Given the description of an element on the screen output the (x, y) to click on. 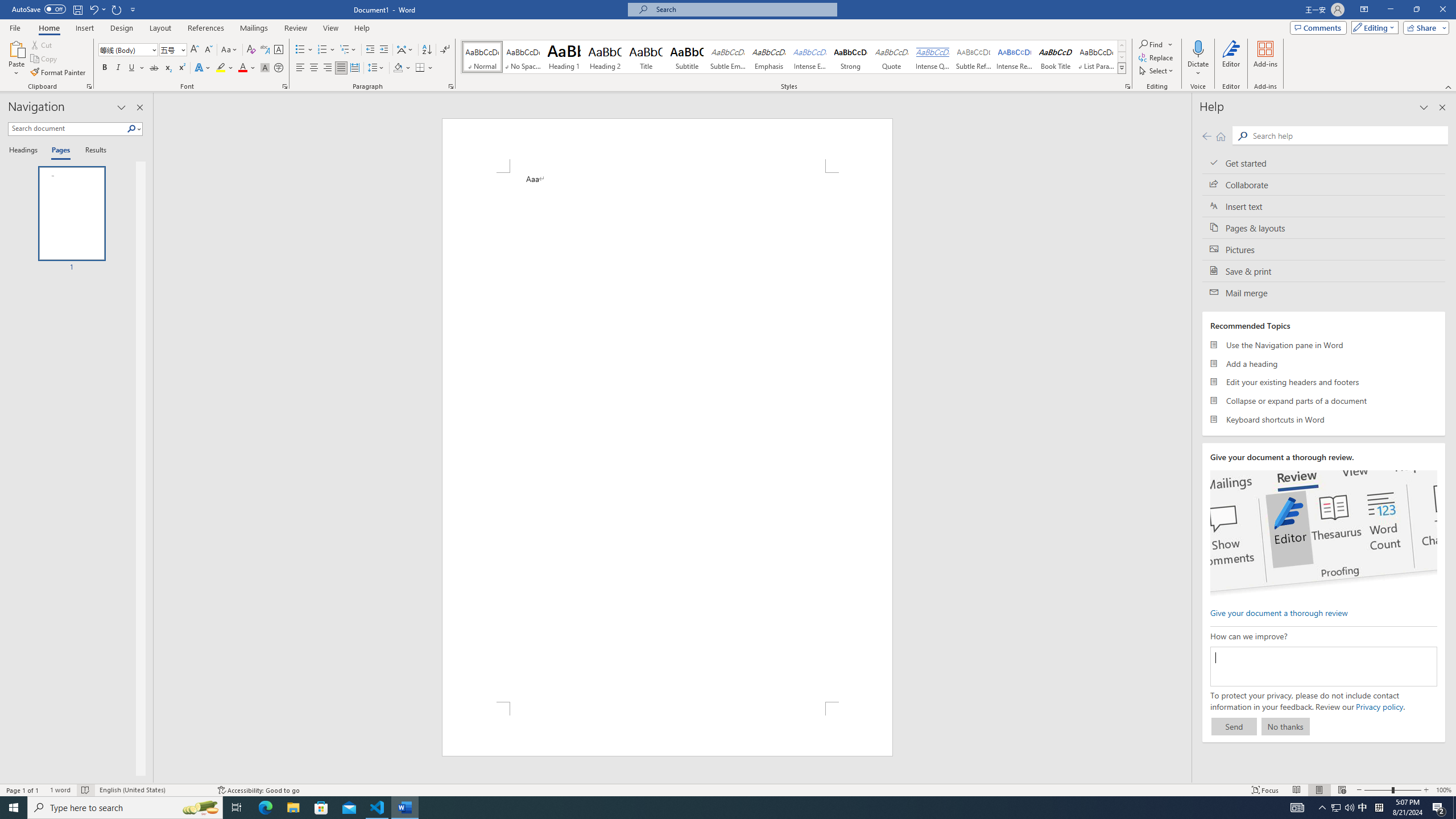
Paragraph... (450, 85)
File Tab (15, 27)
Cut (42, 44)
Share (1423, 27)
Center (313, 67)
Italic (118, 67)
Numbering (326, 49)
Font Size (172, 49)
Align Right (327, 67)
Get started (1323, 162)
Class: NetUIImage (1121, 68)
Bullets (304, 49)
Subtle Reference (973, 56)
System (6, 6)
More Options (1197, 68)
